Given the description of an element on the screen output the (x, y) to click on. 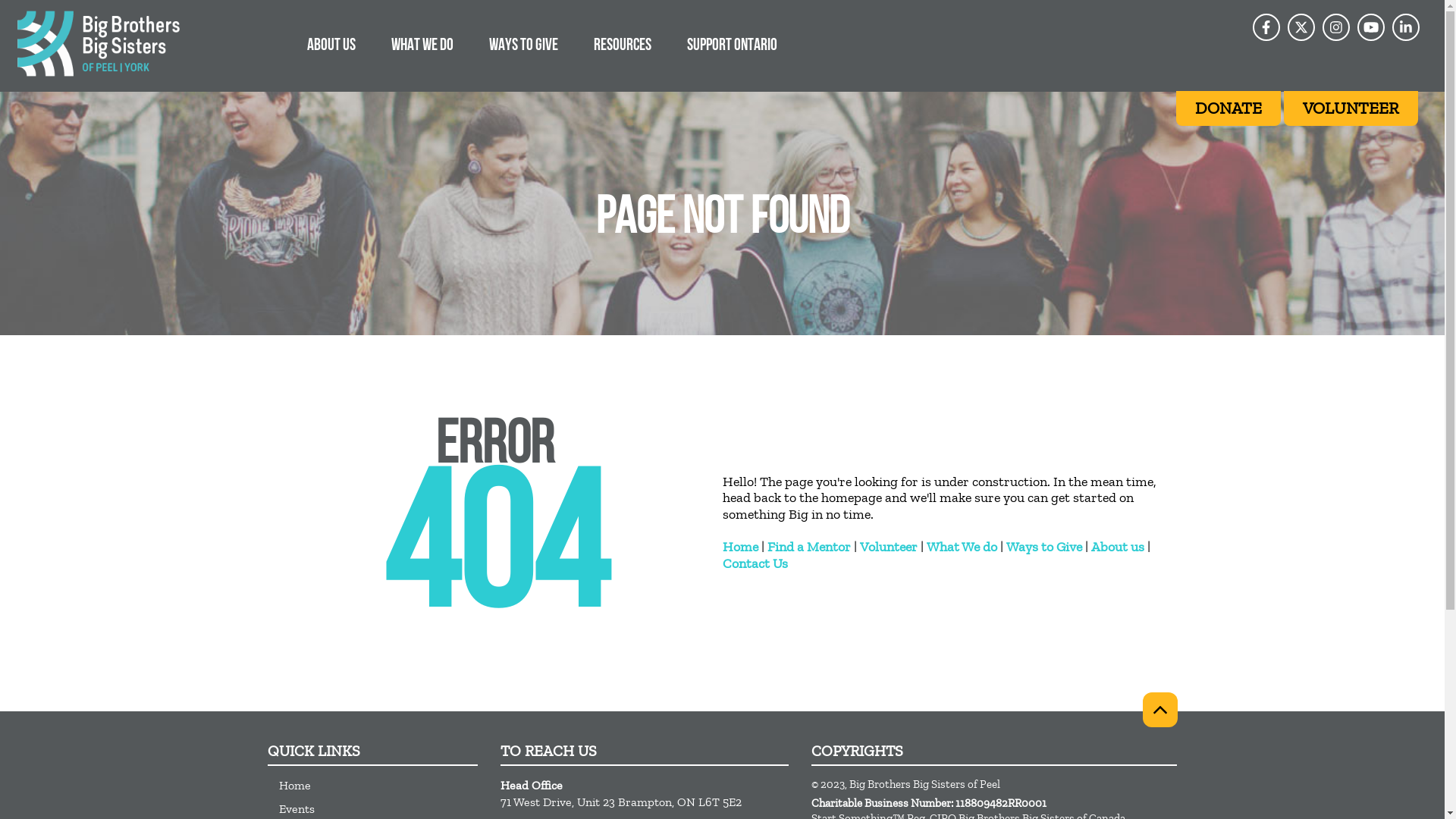
Home Element type: text (739, 546)
VOLUNTEER Element type: text (1350, 108)
WAYS TO GIVE Element type: text (523, 44)
Ways to Give Element type: text (1043, 546)
Contact Us Element type: text (754, 563)
DONATE Element type: text (1228, 108)
What We do Element type: text (961, 546)
Volunteer Element type: text (888, 546)
Find a Mentor Element type: text (808, 546)
ABOUT US Element type: text (330, 44)
WHAT WE DO Element type: text (422, 44)
SUPPORT ONTARIO Element type: text (731, 44)
Events Element type: text (378, 808)
RESOURCES Element type: text (622, 44)
Home Element type: text (378, 785)
About us Element type: text (1116, 546)
